Given the description of an element on the screen output the (x, y) to click on. 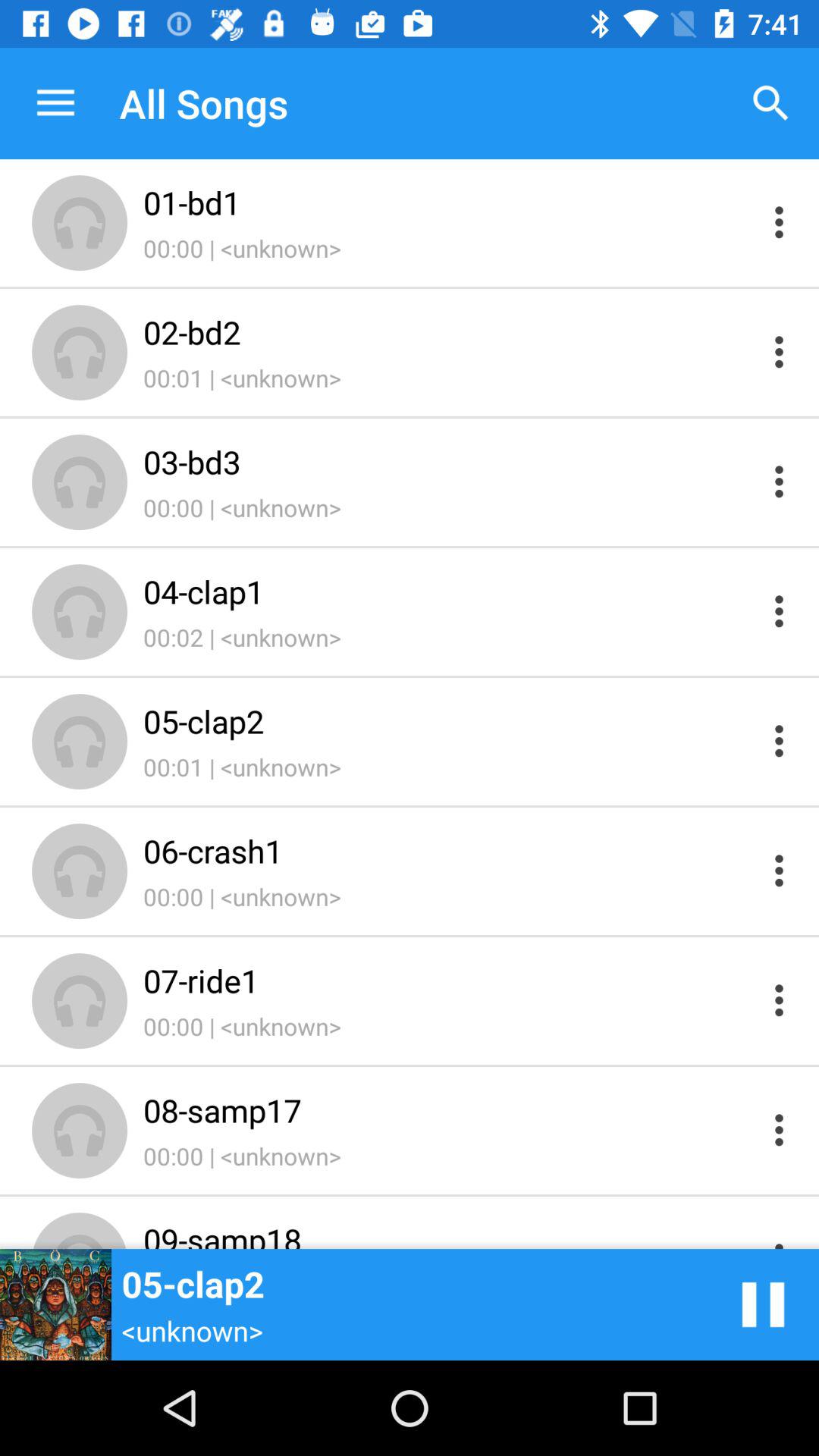
choose the item below 00:00 | <unknown> (449, 331)
